Given the description of an element on the screen output the (x, y) to click on. 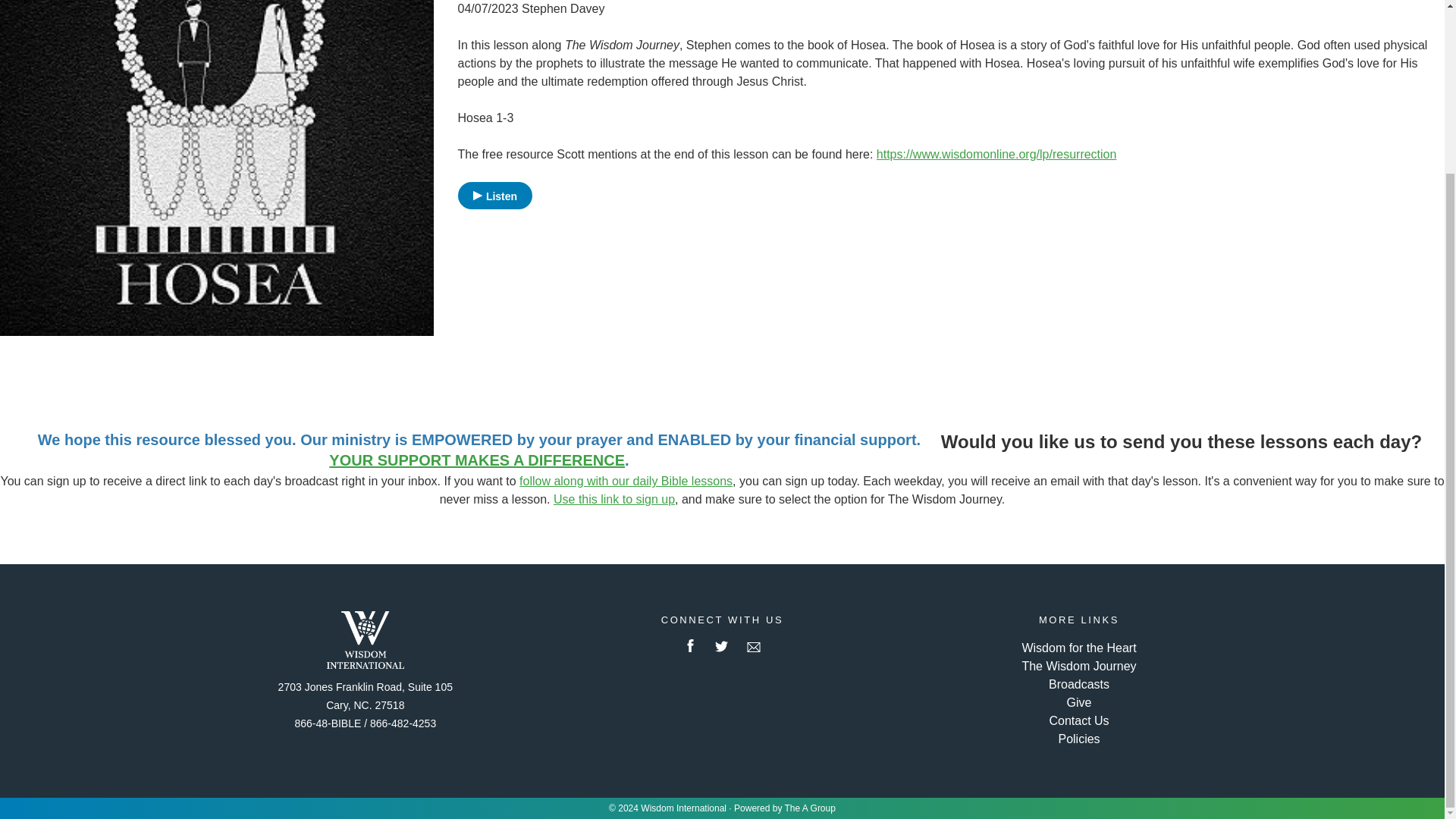
Listen (495, 195)
Give (1079, 702)
Powered by The A Group (784, 808)
follow along with our daily Bible lessons (625, 481)
The Wisdom Journey (1078, 666)
Broadcasts (1078, 684)
YOUR SUPPORT MAKES A DIFFERENCE (476, 460)
Use this link to sign up (614, 499)
Contact Us (1078, 720)
Policies (1078, 738)
Wisdom for the Heart (1078, 647)
